Given the description of an element on the screen output the (x, y) to click on. 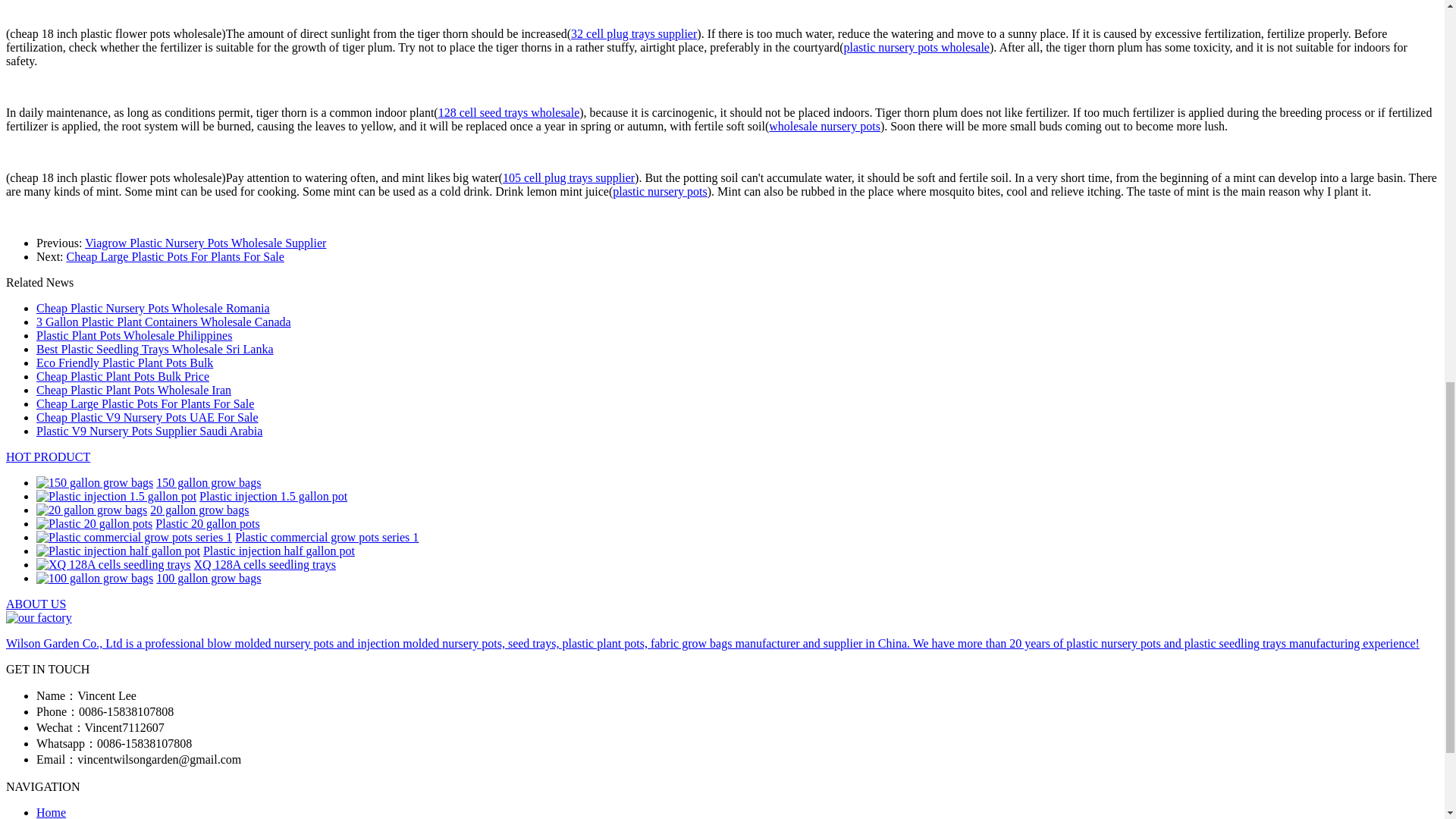
Cheap Plastic Plant Pots Bulk Price (122, 376)
plastic plant pots (47, 456)
Cheap Plastic Nursery Pots Wholesale Romania (152, 308)
Plastic injection 1.5 gallon pot (116, 496)
Cheap Large Plastic Pots For Plants For Sale (144, 403)
Cheap Plastic Plant Pots Wholesale Iran (133, 390)
Cheap Plastic V9 Nursery Pots UAE For Sale (147, 417)
Plastic injection 1.5 gallon pot (116, 495)
Plastic V9 Nursery Pots Supplier Saudi Arabia (149, 431)
Plastic Plant Pots Wholesale Philippines (133, 335)
